Given the description of an element on the screen output the (x, y) to click on. 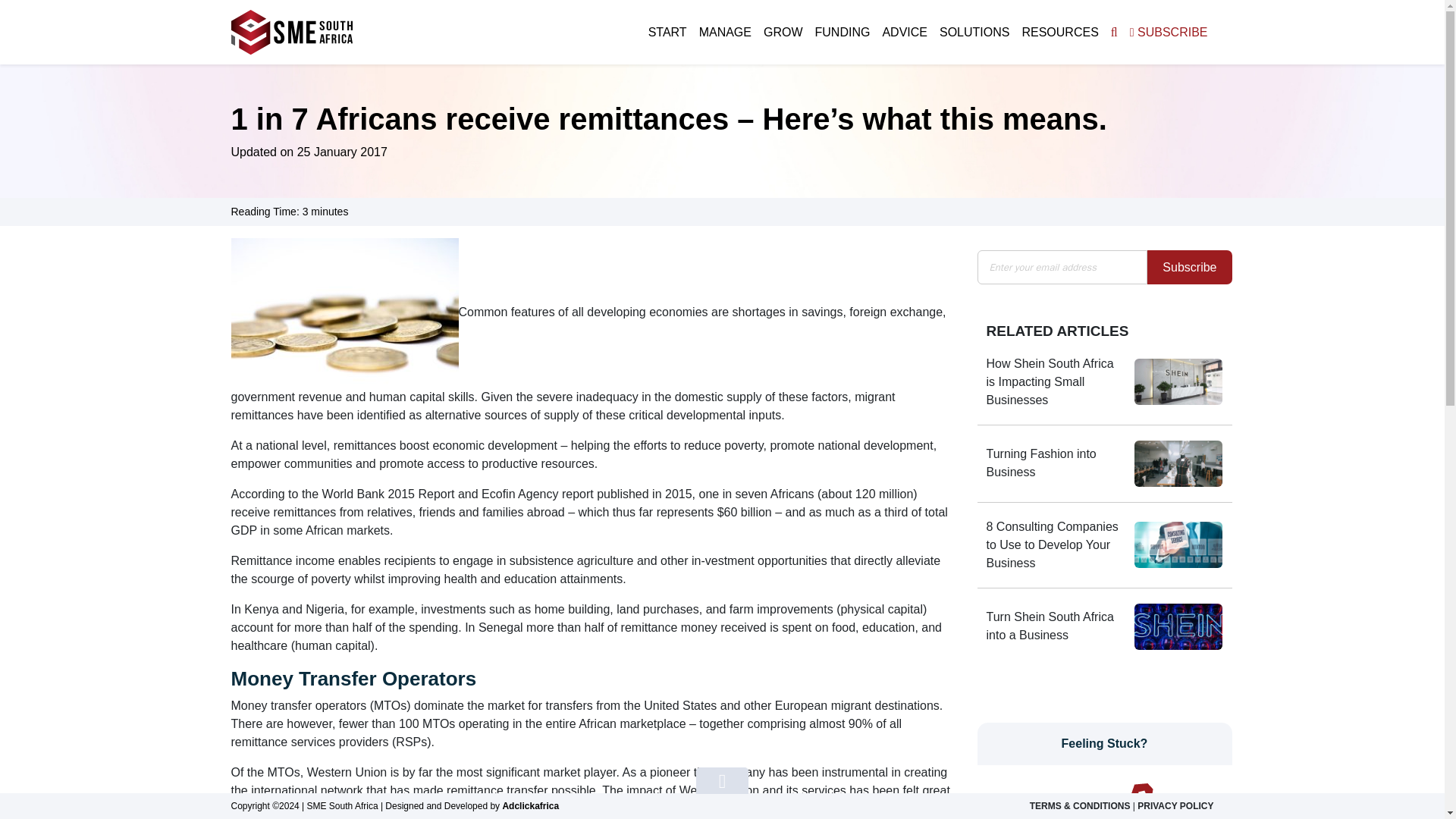
MANAGE (725, 32)
Subscribe (1189, 267)
SUBSCRIBE (1169, 32)
How Shein South Africa is Impacting Small Businesses (1055, 381)
RESOURCES (1058, 32)
GROW (783, 32)
ADVICE (904, 32)
FUNDING (842, 32)
Turn Shein South Africa into a Business (1055, 626)
START (667, 32)
8 Consulting Companies to Use to Develop Your Business (1055, 544)
SOLUTIONS (973, 32)
Turning Fashion into Business (1055, 463)
